Given the description of an element on the screen output the (x, y) to click on. 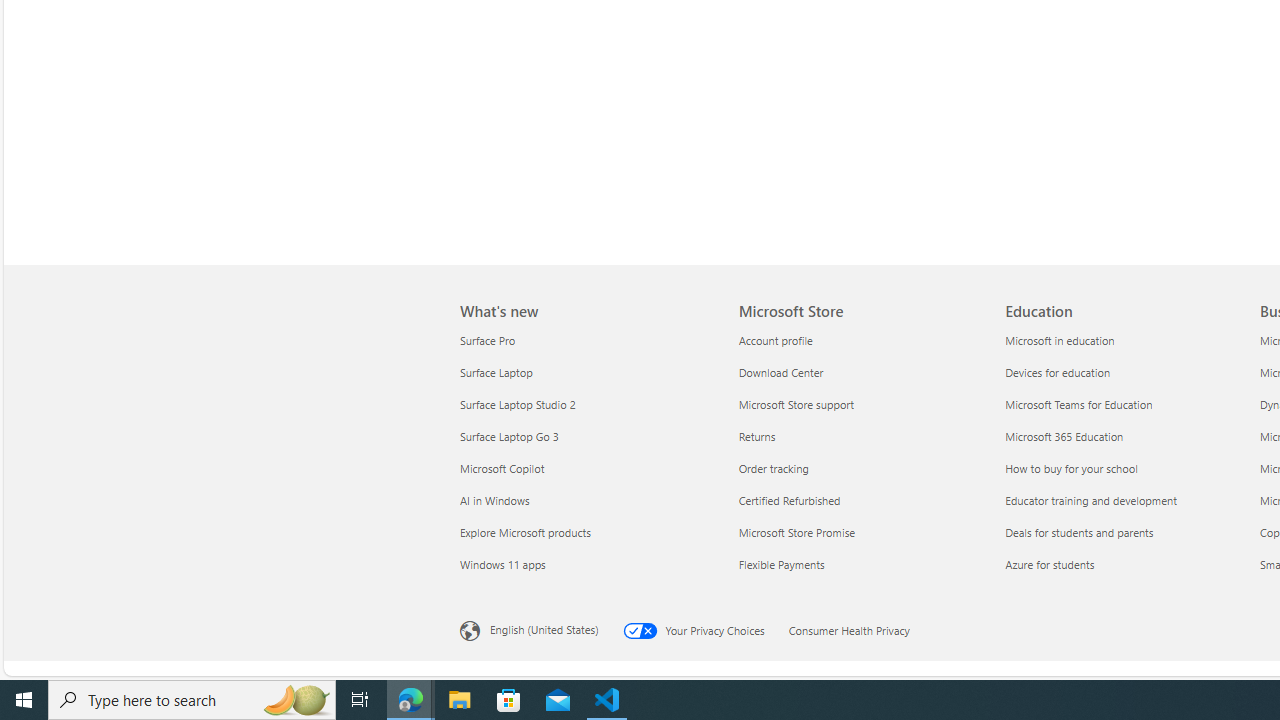
Explore Microsoft products (587, 532)
Your Privacy Choices Opt-Out Icon Your Privacy Choices (705, 628)
Surface Pro (587, 340)
Microsoft Teams for Education (1126, 404)
Certified Refurbished (859, 499)
Certified Refurbished Microsoft Store (789, 499)
Windows 11 apps What's new (502, 563)
Microsoft in education Education (1059, 339)
Surface Laptop Studio 2 What's new (517, 403)
Educator training and development (1126, 499)
Microsoft Copilot What's new (502, 467)
Microsoft 365 Education Education (1063, 435)
Microsoft Store Promise (859, 532)
Deals for students and parents Education (1079, 532)
Devices for education (1126, 371)
